Given the description of an element on the screen output the (x, y) to click on. 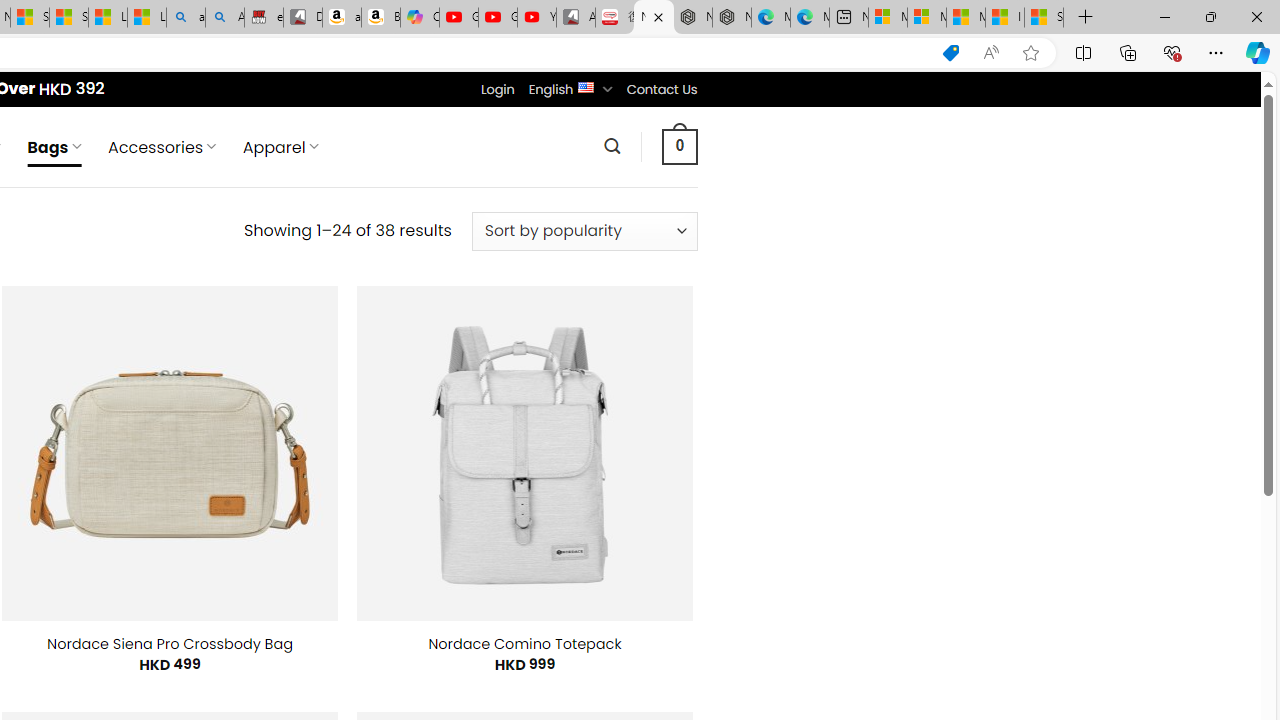
Nordace - Nordace has arrived Hong Kong (732, 17)
Contact Us (661, 89)
Search (612, 146)
YouTube Kids - An App Created for Kids to Explore Content (536, 17)
Nordace Comino Totepack (524, 643)
Read aloud this page (Ctrl+Shift+U) (991, 53)
amazon.in/dp/B0CX59H5W7/?tag=gsmcom05-21 (341, 17)
This site has coupons! Shopping in Microsoft Edge (950, 53)
I Gained 20 Pounds of Muscle in 30 Days! | Watch (1004, 17)
